Given the description of an element on the screen output the (x, y) to click on. 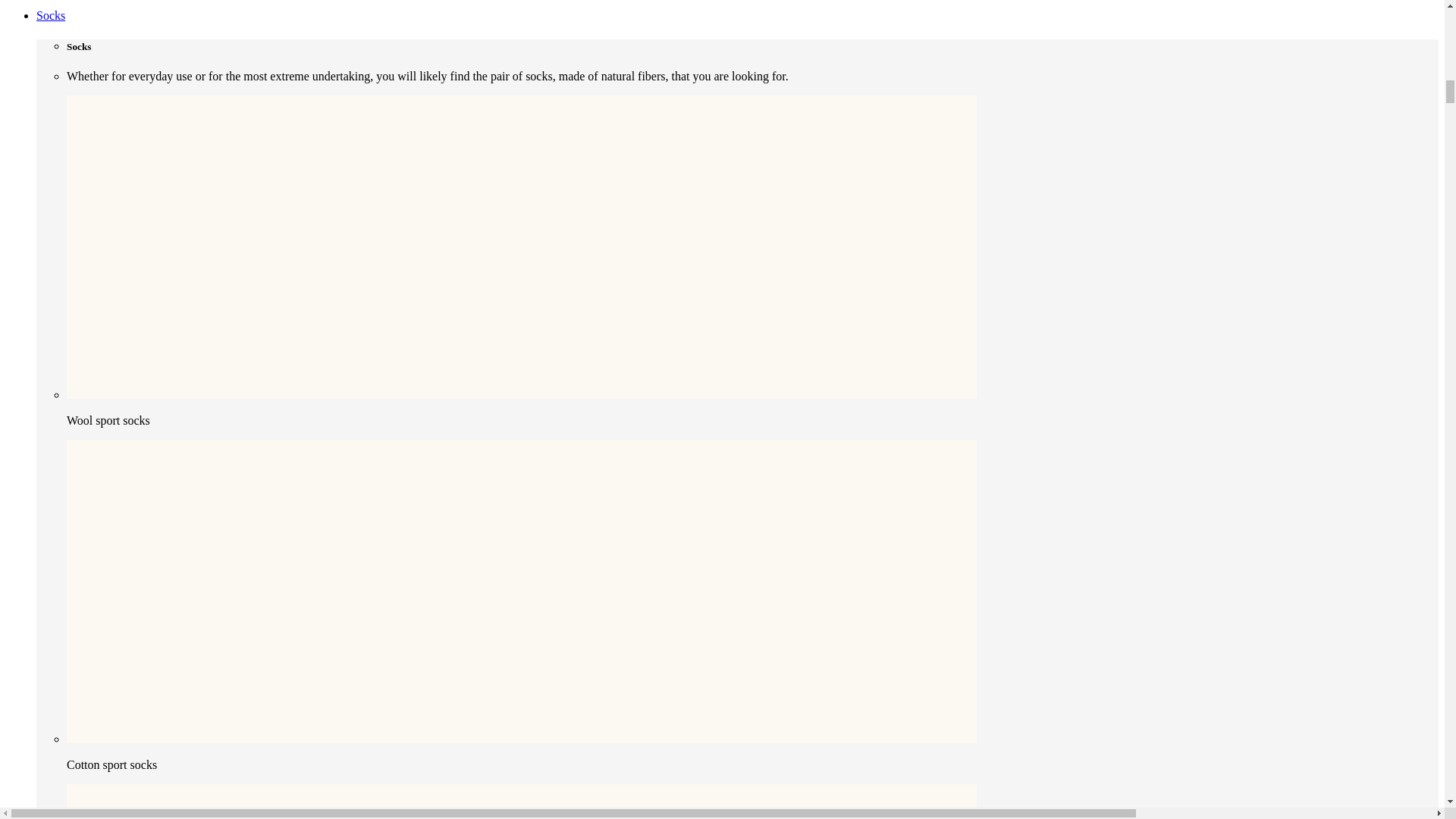
Socks (50, 15)
